Given the description of an element on the screen output the (x, y) to click on. 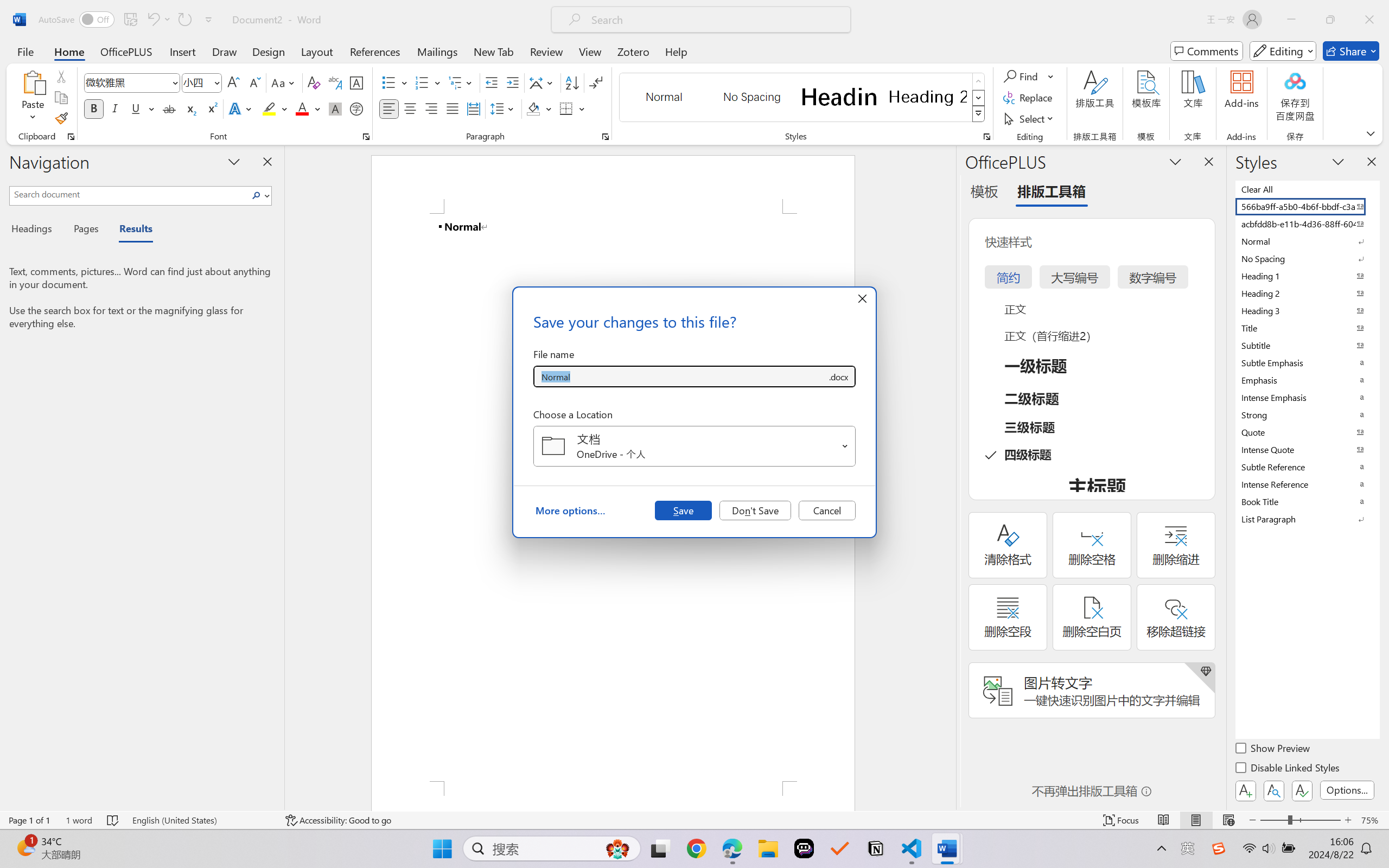
List Paragraph (1306, 518)
566ba9ff-a5b0-4b6f-bbdf-c3ab41993fc2 (1306, 206)
Text Highlight Color (274, 108)
Clear Formatting (313, 82)
Font Size (201, 82)
Close (1369, 19)
Subtle Emphasis (1306, 362)
Undo <ApplyStyleToDoc>b__0 (158, 19)
Language English (United States) (201, 819)
Search (256, 195)
